Given the description of an element on the screen output the (x, y) to click on. 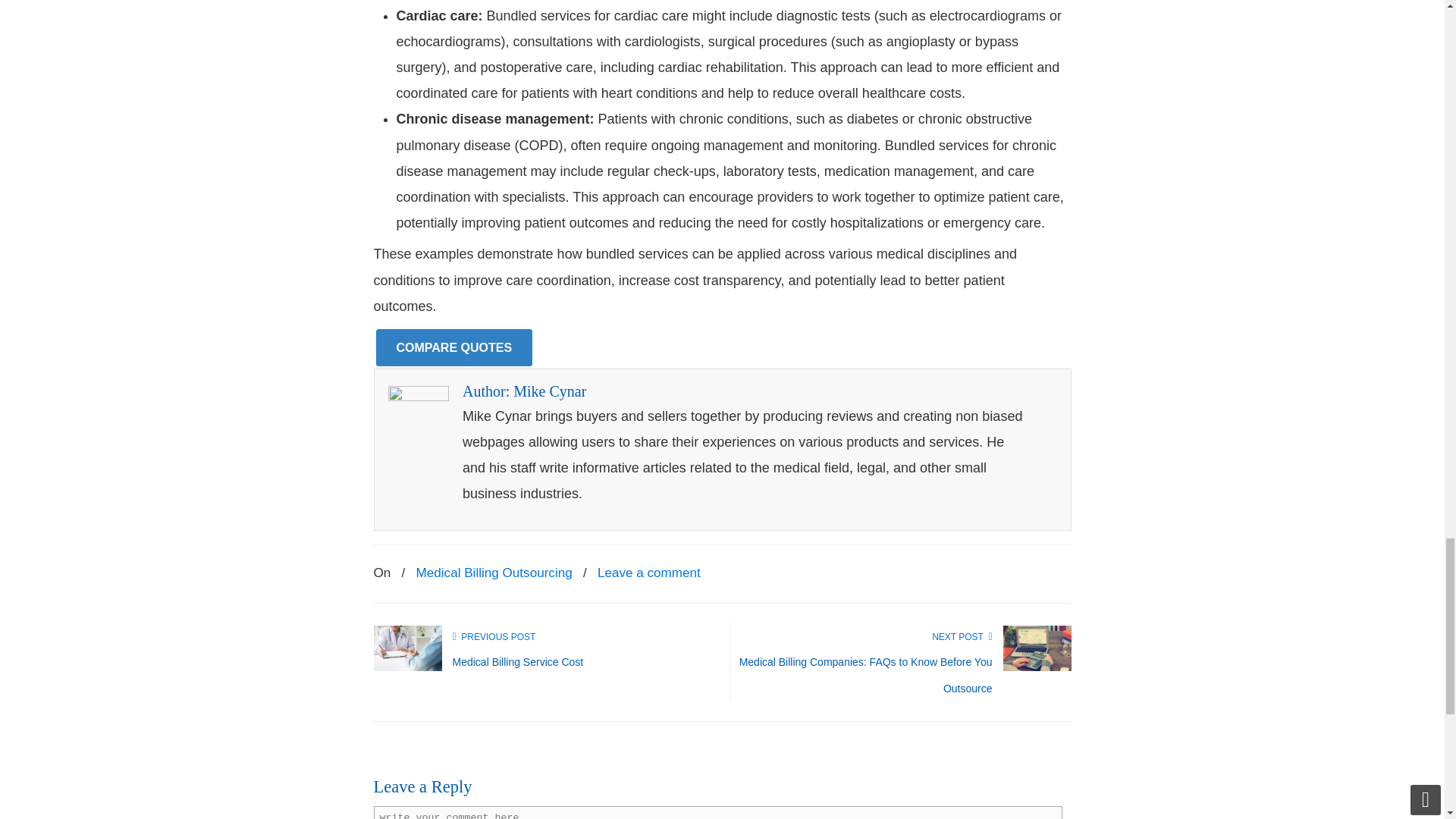
Medical Billing Outsourcing (494, 573)
COMPARE QUOTES (453, 347)
Go to previous post (493, 636)
Medical Billing Service Cost (517, 662)
Go to next post (961, 636)
Medical Billing Companies: FAQs to Know Before You Outsource (1036, 667)
Medical Billing Companies: FAQs to Know Before You Outsource (865, 674)
NEXT POST   (961, 636)
COMPARE QUOTES (453, 347)
Leave a comment (648, 573)
